Given the description of an element on the screen output the (x, y) to click on. 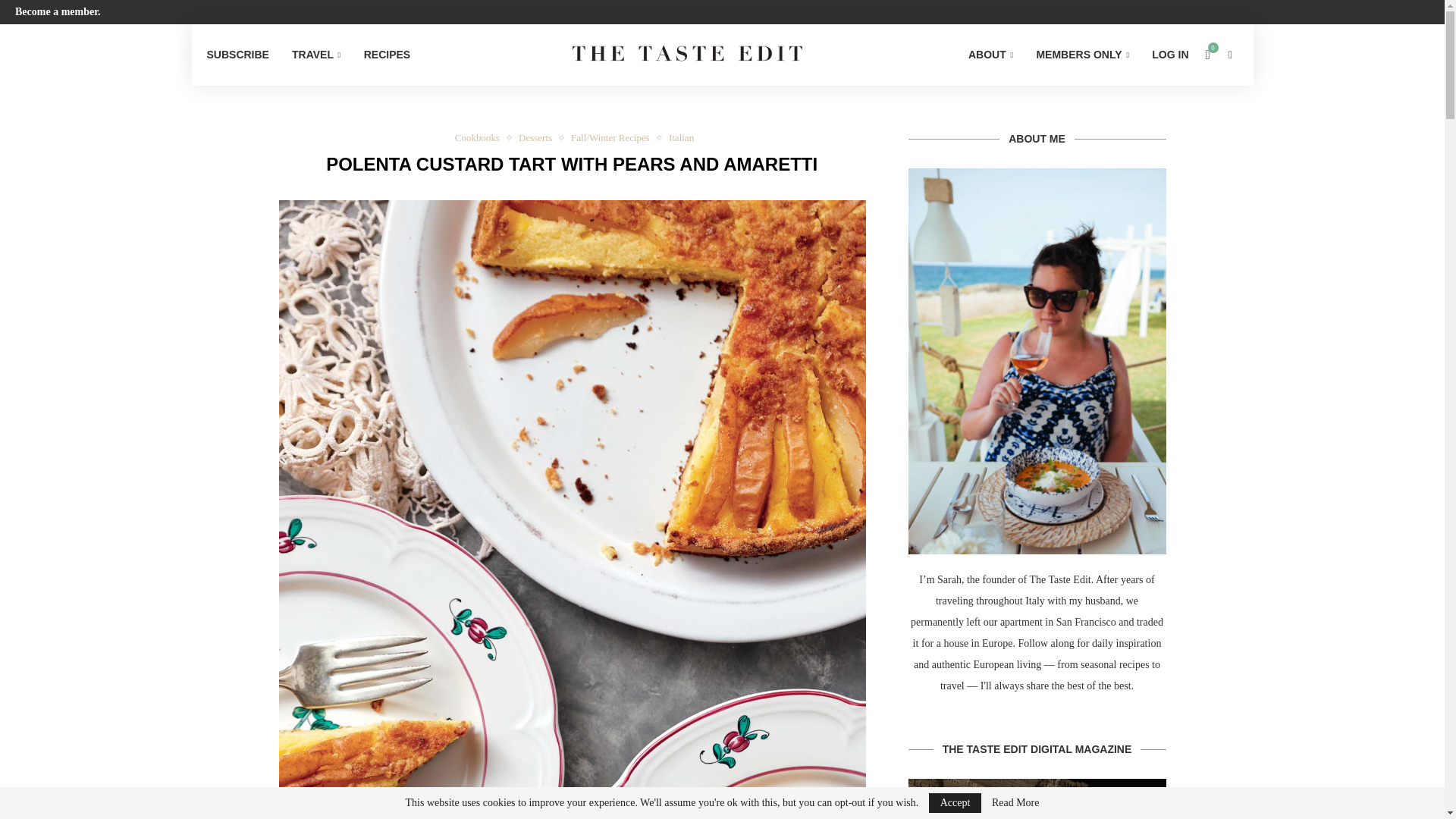
SUBSCRIBE (236, 54)
Become a member. (57, 11)
